Given the description of an element on the screen output the (x, y) to click on. 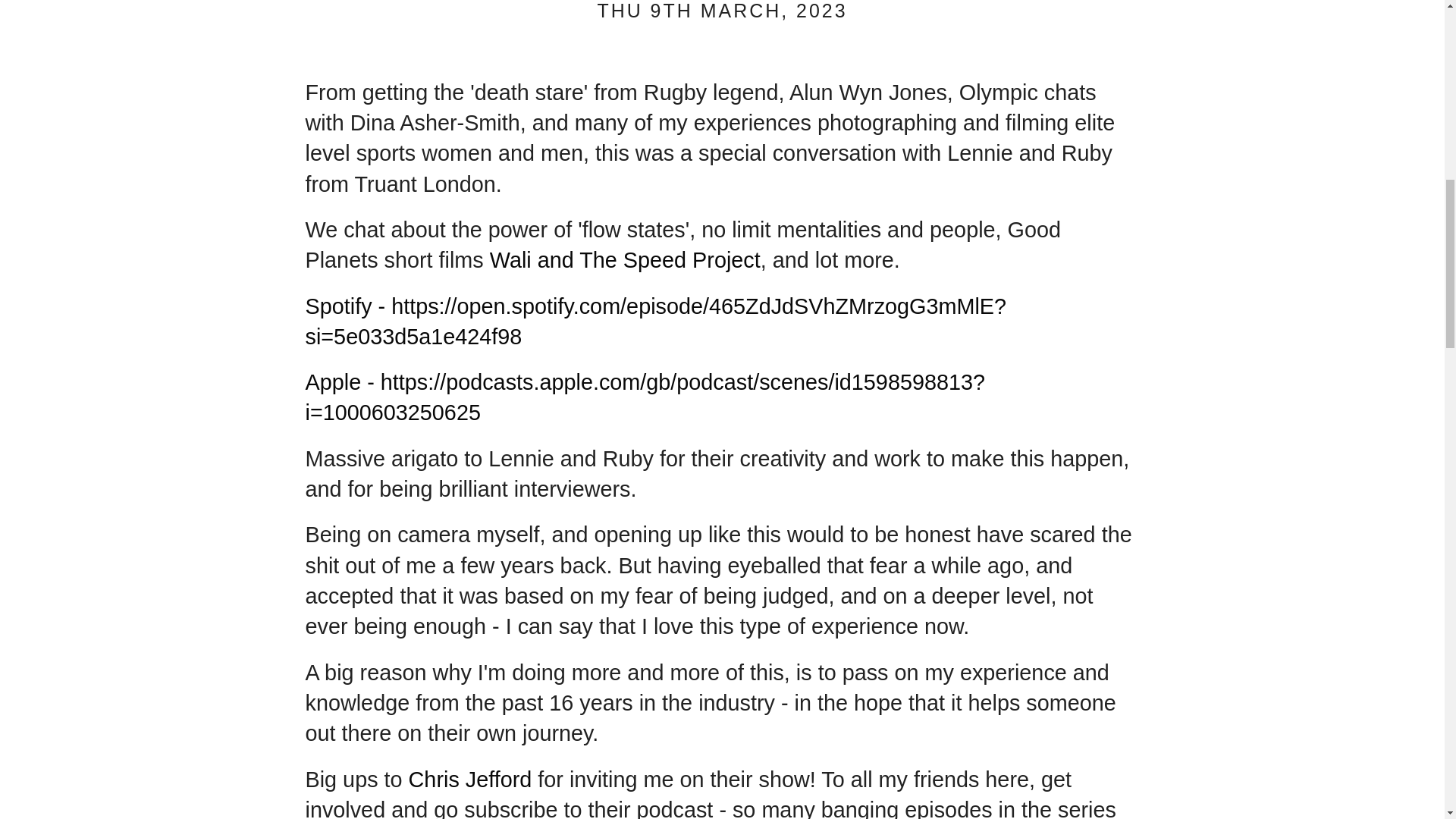
Chris Jefford (470, 779)
Wali and The Speed Project (624, 259)
